Given the description of an element on the screen output the (x, y) to click on. 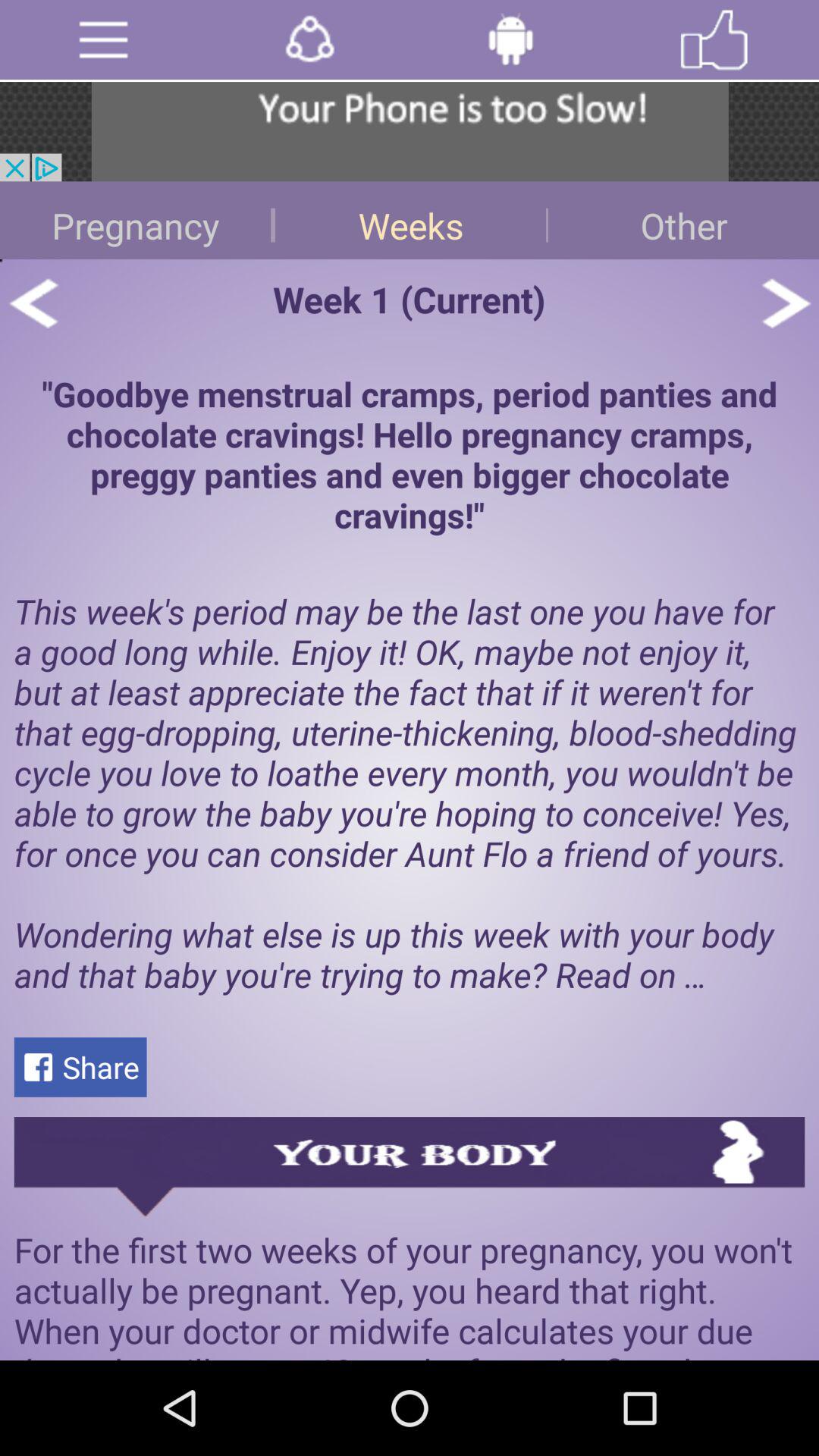
select the option weeks which is after the pregnancy (409, 219)
select the like option which is on the top right hand side (714, 38)
click to go next (785, 302)
click share icon (309, 39)
